Given the description of an element on the screen output the (x, y) to click on. 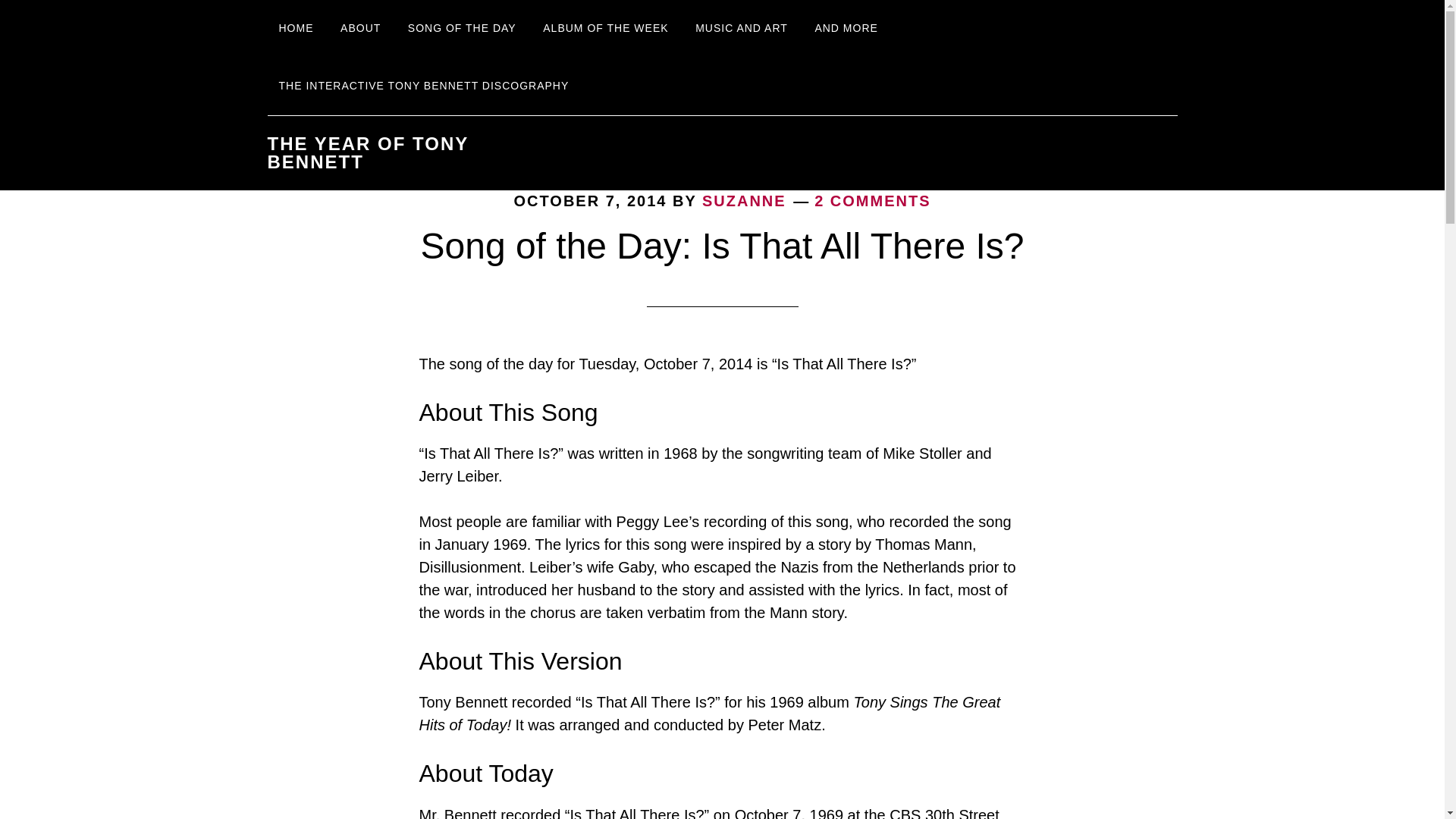
2 COMMENTS (871, 200)
THE INTERACTIVE TONY BENNETT DISCOGRAPHY (422, 86)
SONG OF THE DAY (461, 28)
ALBUM OF THE WEEK (605, 28)
MUSIC AND ART (741, 28)
HOME (295, 28)
THE YEAR OF TONY BENNETT (366, 152)
ABOUT (360, 28)
SUZANNE (743, 200)
AND MORE (845, 28)
